Given the description of an element on the screen output the (x, y) to click on. 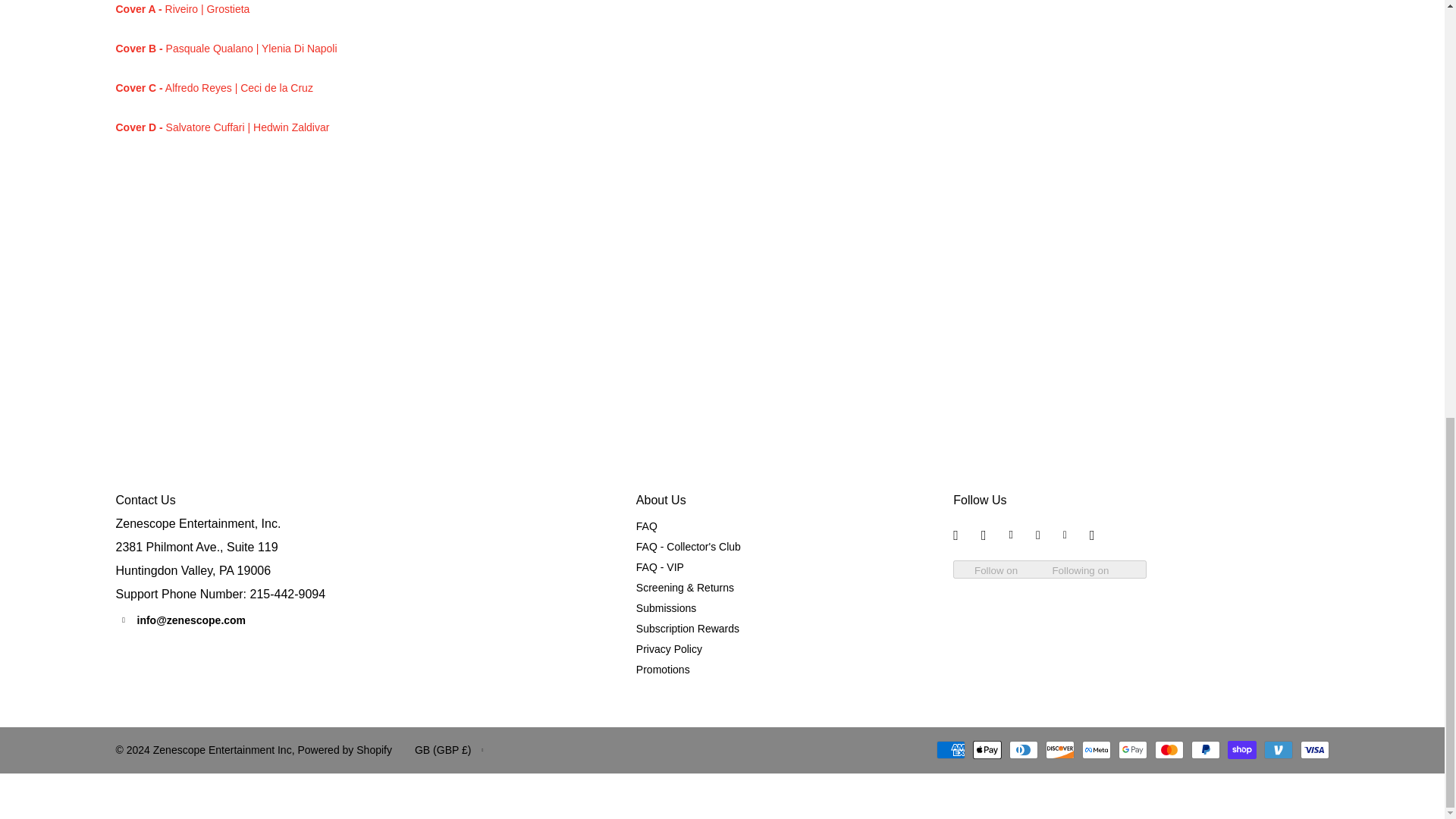
Meta Pay (1095, 750)
Google Pay (1132, 750)
Promotions (663, 669)
Submissions (665, 607)
FAQ (647, 526)
Mastercard (1168, 750)
Visa (1313, 750)
FAQ - VIP (660, 567)
Diners Club (1022, 750)
PayPal (1205, 750)
